Given the description of an element on the screen output the (x, y) to click on. 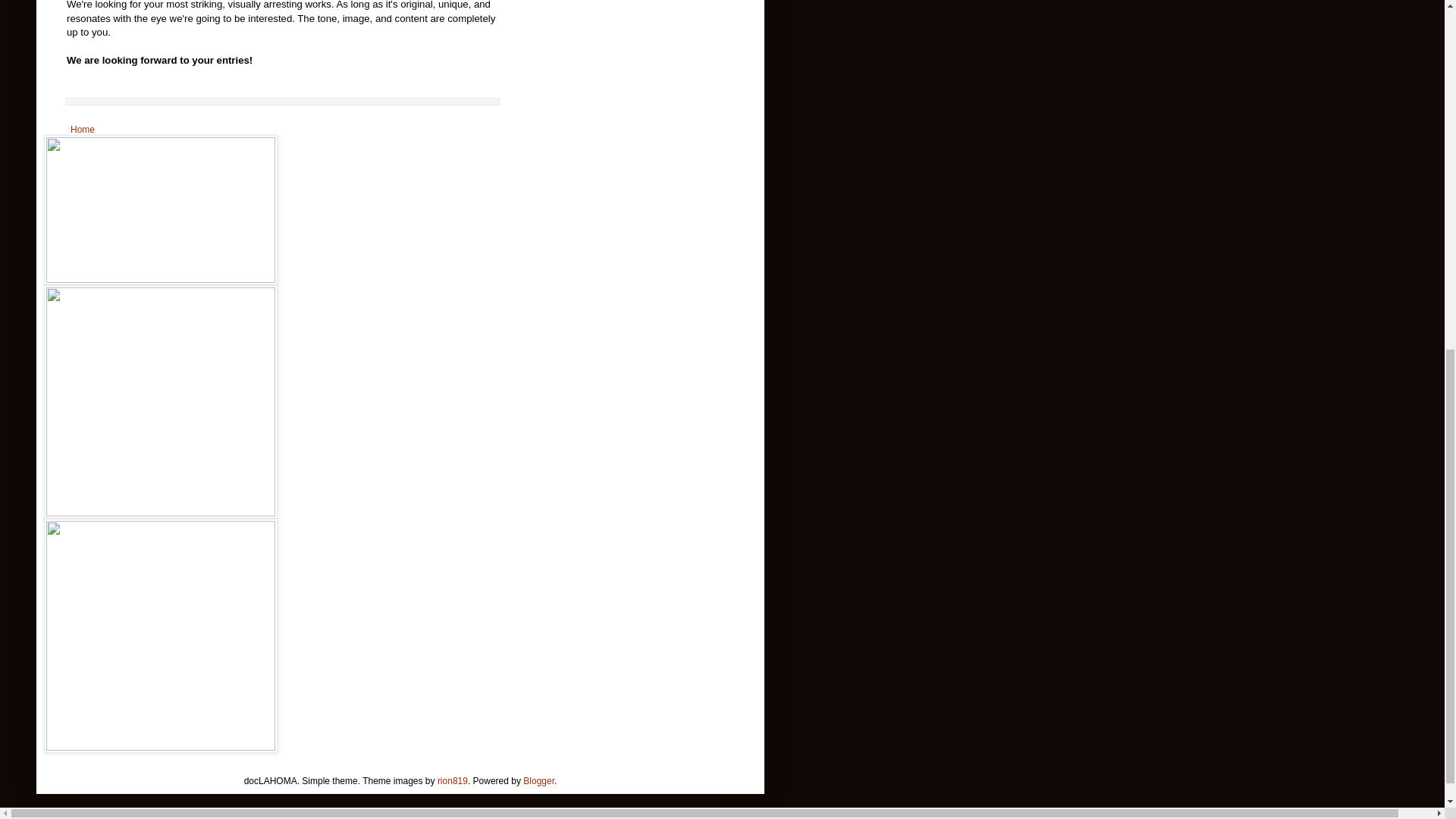
Home (82, 129)
Blogger (538, 780)
rion819 (452, 780)
